Given the description of an element on the screen output the (x, y) to click on. 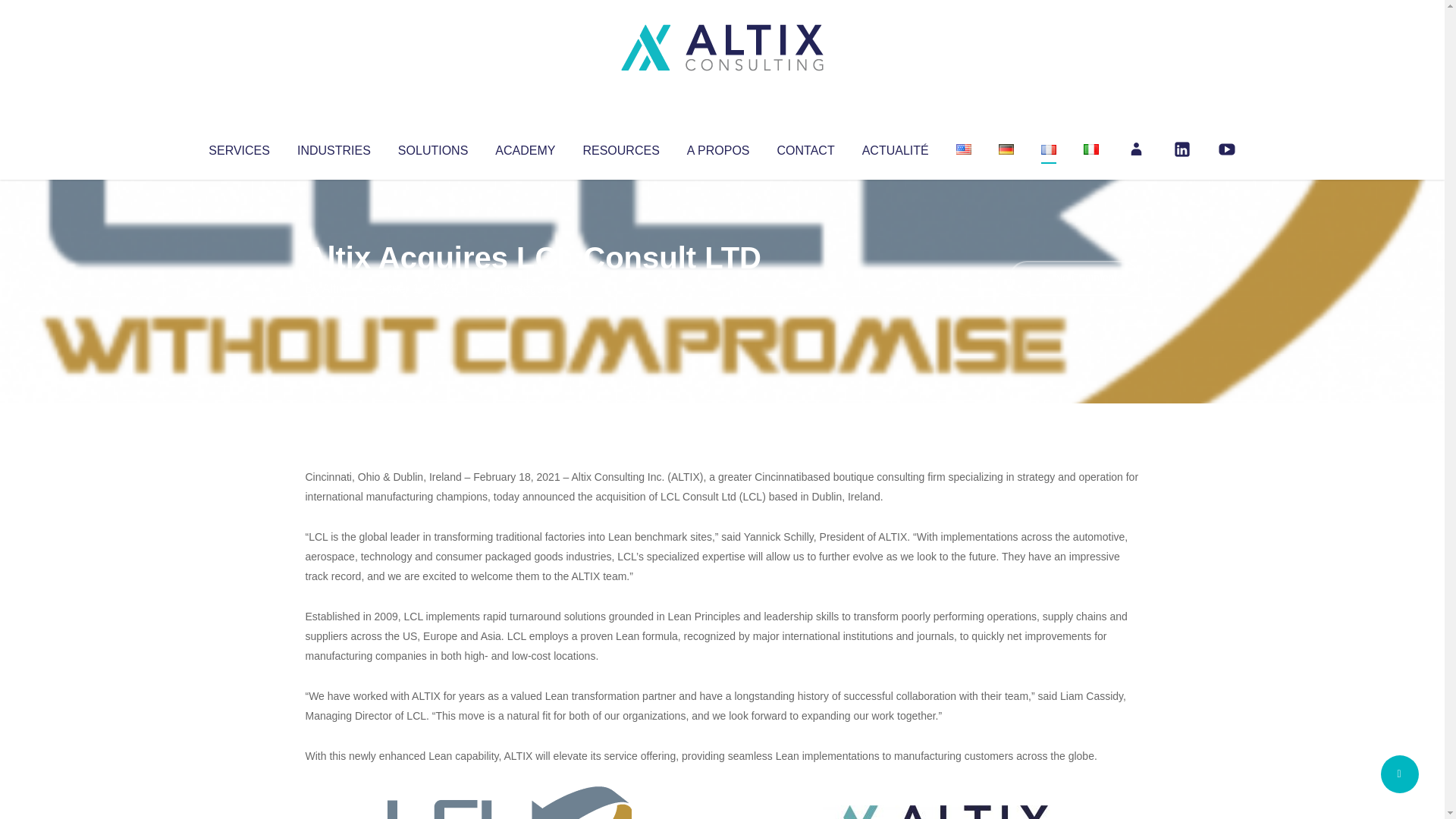
Uncategorized (530, 287)
Altix (333, 287)
No Comments (1073, 278)
SERVICES (238, 146)
INDUSTRIES (334, 146)
A PROPOS (718, 146)
RESOURCES (620, 146)
Articles par Altix (333, 287)
SOLUTIONS (432, 146)
ACADEMY (524, 146)
